Given the description of an element on the screen output the (x, y) to click on. 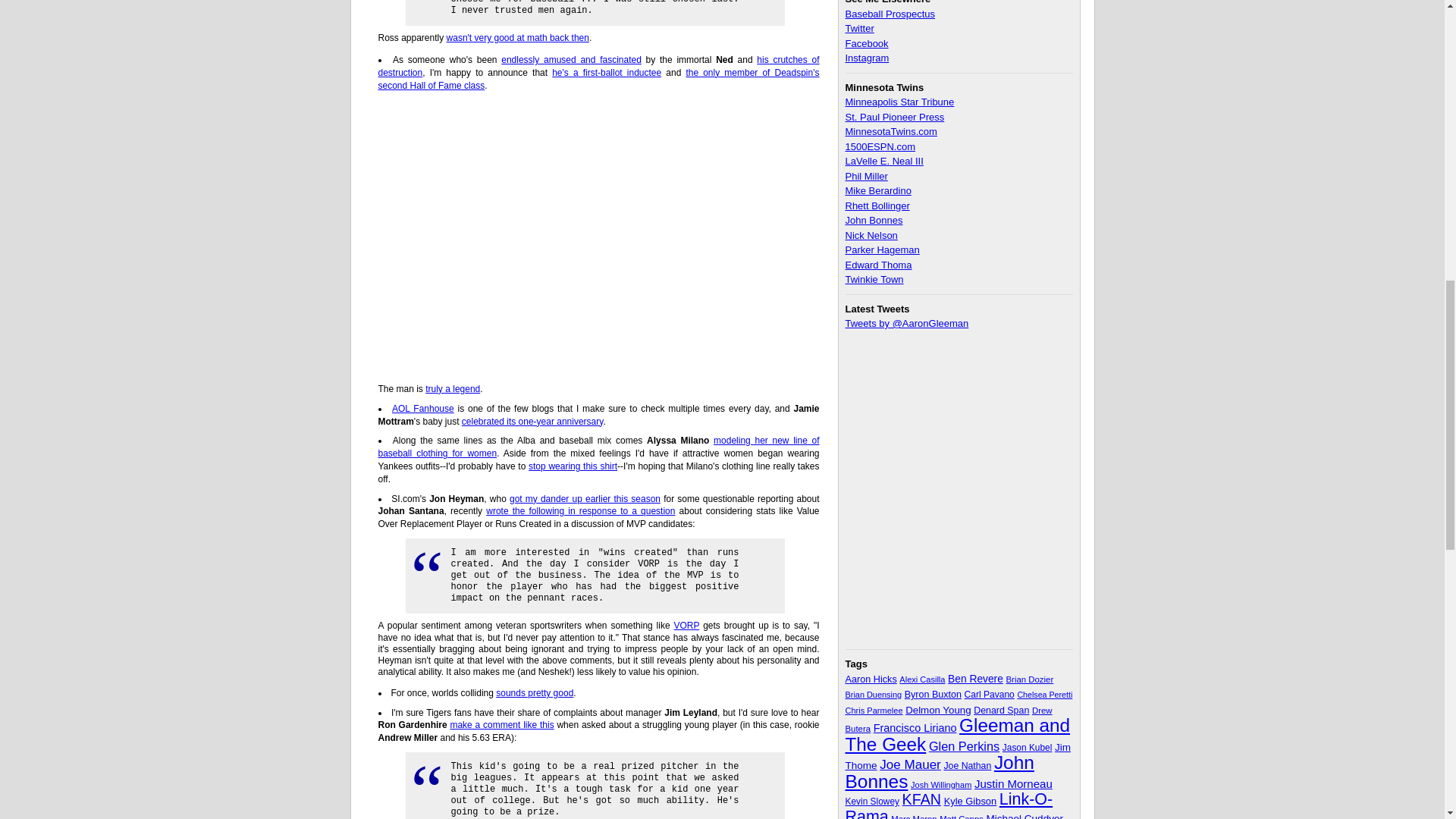
he's a first-ballot inductee (606, 72)
celebrated its one-year anniversary (532, 421)
his crutches of destruction (597, 65)
make a comment like this (501, 724)
VORP (685, 624)
sounds pretty good (534, 692)
got my dander up earlier this season (585, 498)
modeling her new line of baseball clothing for women (597, 446)
endlessly amused and fascinated (571, 59)
truly a legend (452, 388)
AOL Fanhouse (422, 408)
the only member of Deadspin's second Hall of Fame class (597, 78)
stop wearing this shirt (572, 466)
wrote the following in response to a question (580, 511)
wasn't very good at math back then (517, 37)
